Given the description of an element on the screen output the (x, y) to click on. 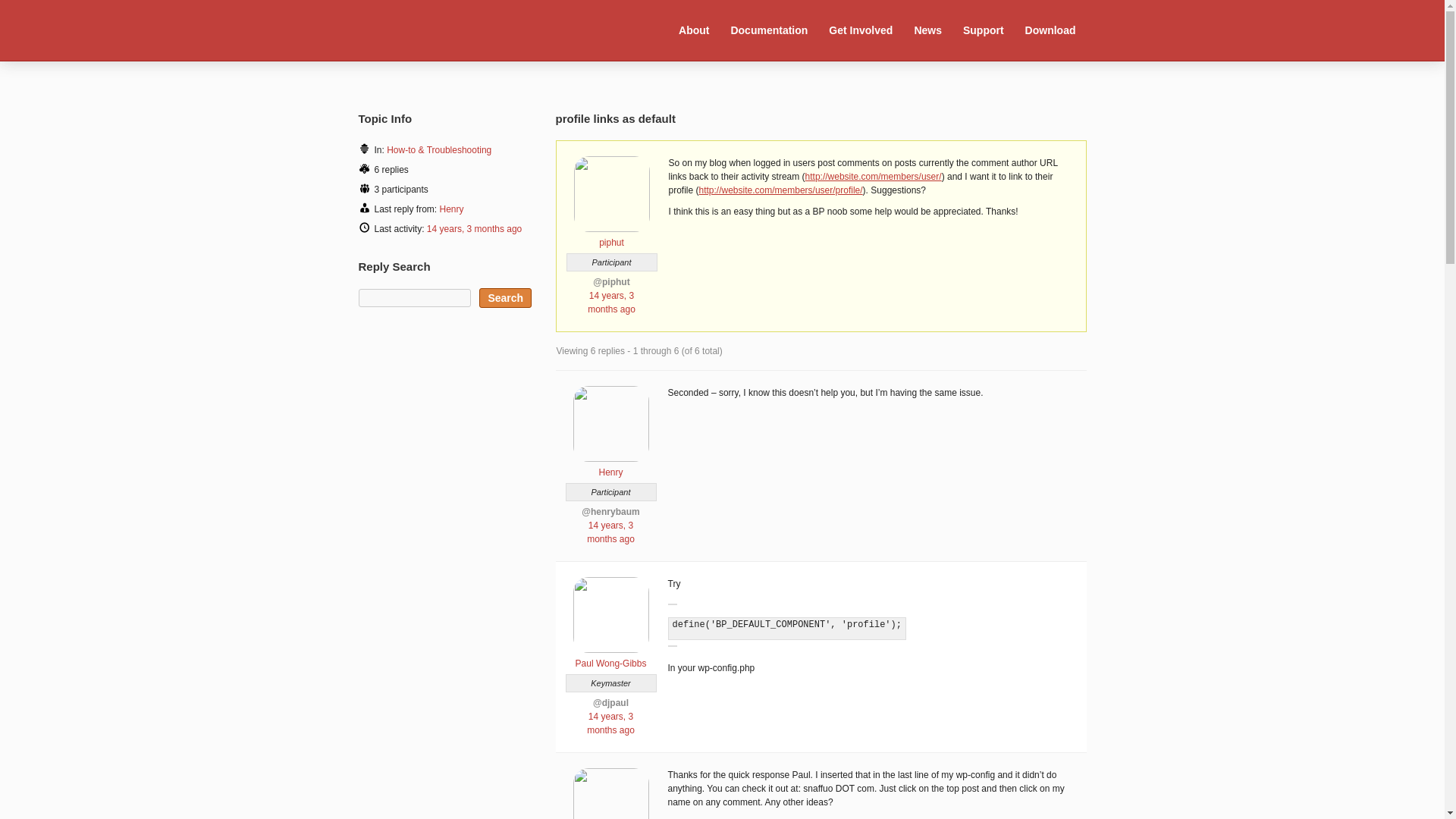
Henry (451, 208)
Search (505, 297)
About (693, 29)
Download (1050, 29)
Documentation (768, 29)
Search (505, 297)
Henry (609, 466)
14 years, 3 months ago (611, 302)
News (927, 29)
Paul Wong-Gibbs (609, 657)
Get Involved (861, 29)
14 years, 3 months ago (473, 228)
BuddyPress.org (458, 29)
Support (983, 29)
14 years, 3 months ago (610, 723)
